Given the description of an element on the screen output the (x, y) to click on. 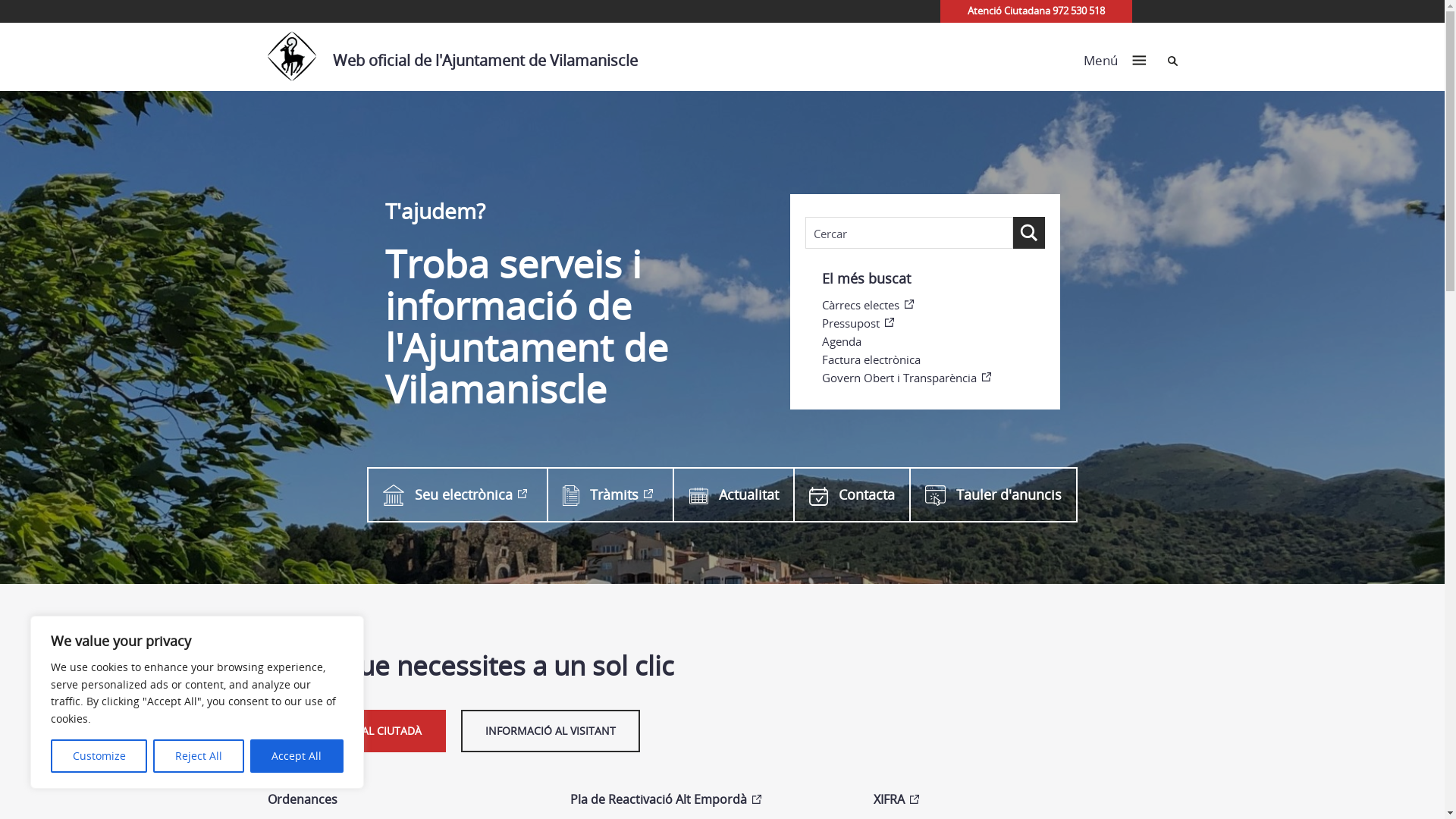
Icones-e-tauler
Tauler d'anuncis Element type: text (993, 494)
Ordenances Element type: text (402, 799)
Reject All Element type: text (198, 755)
Customize Element type: text (98, 755)
Accept All Element type: text (296, 755)
Agenda Element type: text (933, 341)
XIFRA Element type: text (1009, 799)
Web oficial de l'Ajuntament de Vilamaniscle Element type: text (459, 56)
Cerca Element type: text (1172, 60)
Icones-Actualitat
Actualitat Element type: text (732, 494)
Icones-Cita-previa
Contacta Element type: text (851, 494)
Pressupost Element type: text (933, 322)
